Given the description of an element on the screen output the (x, y) to click on. 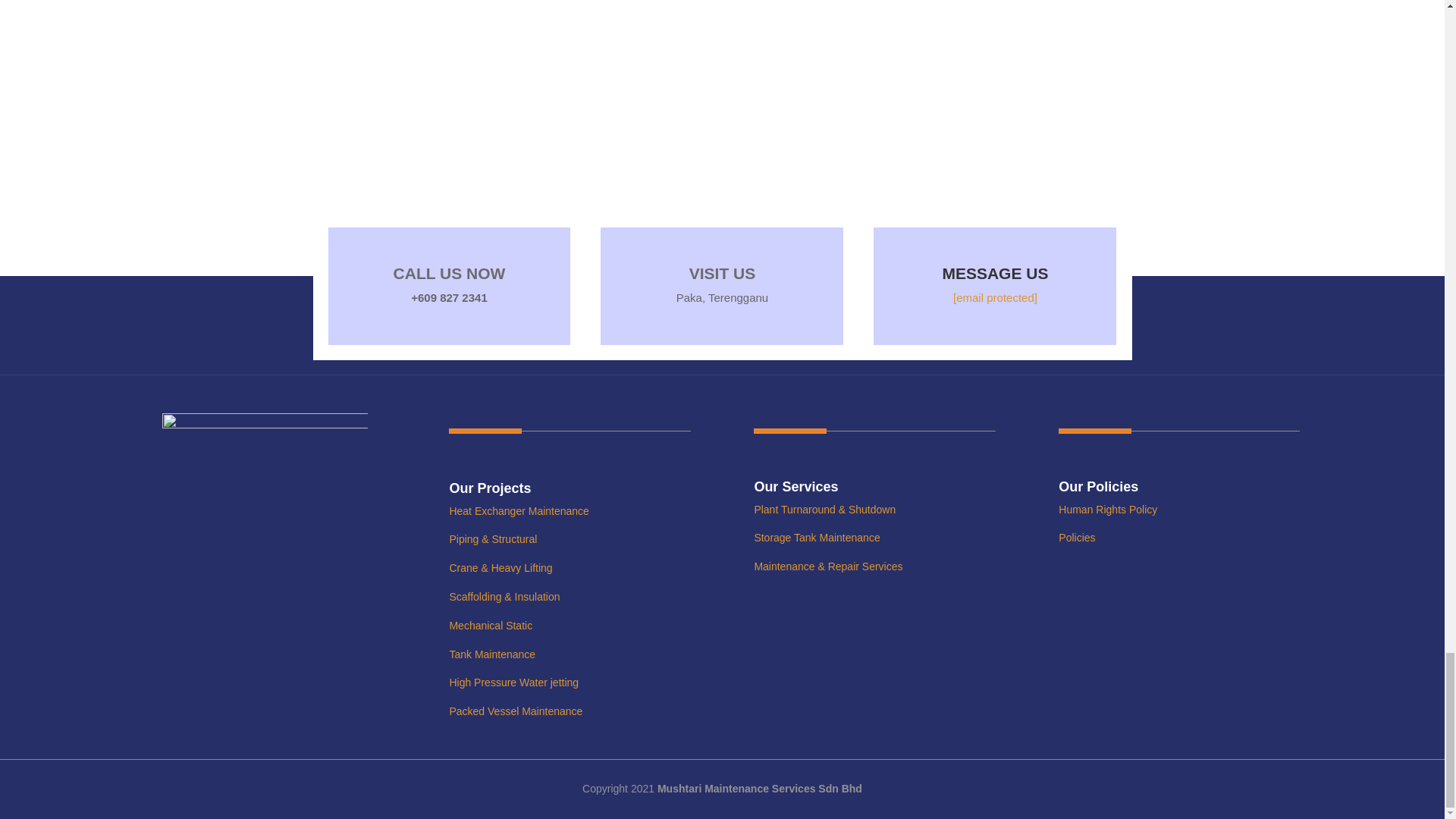
Tank Maintenance (491, 654)
Heat Exchanger Maintenance (518, 510)
Mechanical Static (490, 625)
Storage Tank Maintenance (816, 537)
Packed Vessel Maintenance (515, 711)
Policies (1076, 537)
High Pressure Water jetting (513, 682)
Human Rights Policy (1107, 509)
